Given the description of an element on the screen output the (x, y) to click on. 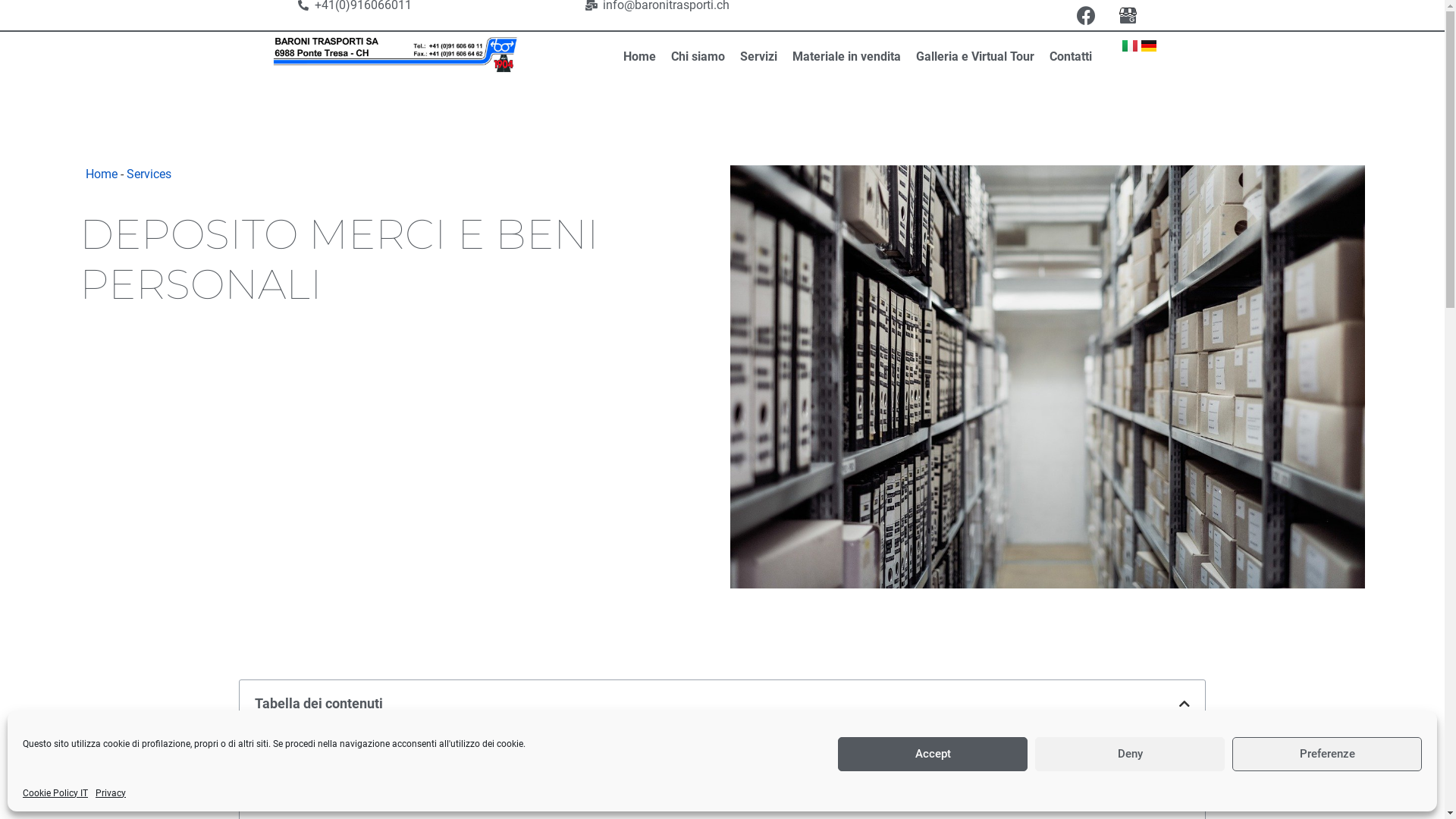
Preferenze Element type: text (1326, 754)
Home Element type: text (639, 56)
Cookie Policy IT Element type: text (54, 793)
Home Element type: text (101, 173)
Specialisti per il deposito dei tuoi beni in Ticino Element type: text (395, 752)
Prezzi del servizio di deposito Element type: text (349, 800)
Deny Element type: text (1129, 754)
Privacy Element type: text (110, 793)
Accept Element type: text (932, 754)
Chi siamo Element type: text (697, 56)
Services Element type: text (148, 173)
Servizi Element type: text (758, 56)
Galleria e Virtual Tour Element type: text (974, 56)
Contatti Element type: text (1070, 56)
Materiale in vendita Element type: text (846, 56)
